Given the description of an element on the screen output the (x, y) to click on. 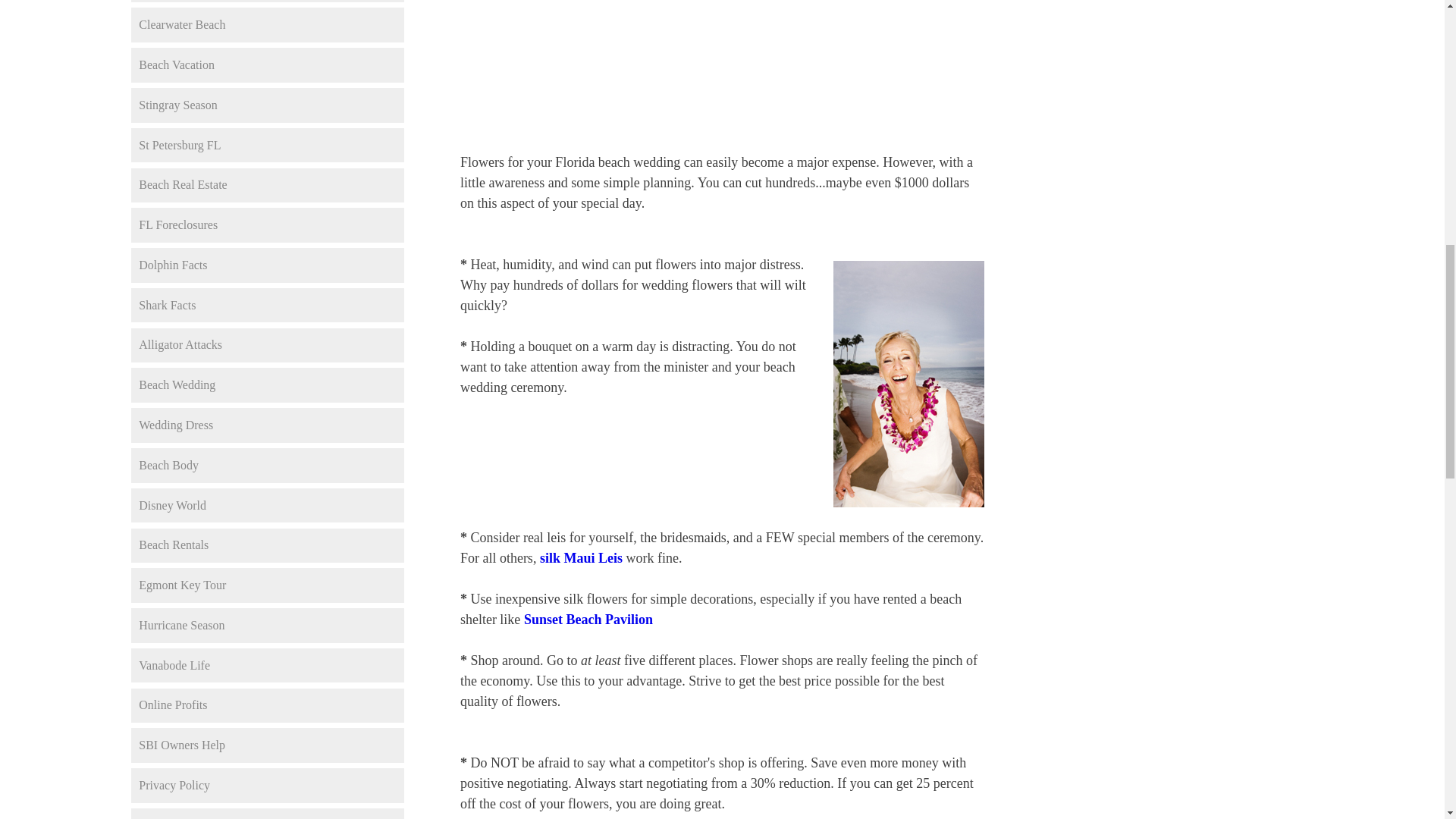
Shark Facts (267, 305)
Site Map (267, 813)
Vanabode Life (267, 665)
Beach Rentals (267, 545)
Indian Rocks (267, 1)
Beach Wedding (267, 384)
Advertisement (721, 42)
Dolphin Facts (267, 265)
Beach Body (267, 465)
Hurricane Season (267, 625)
